Given the description of an element on the screen output the (x, y) to click on. 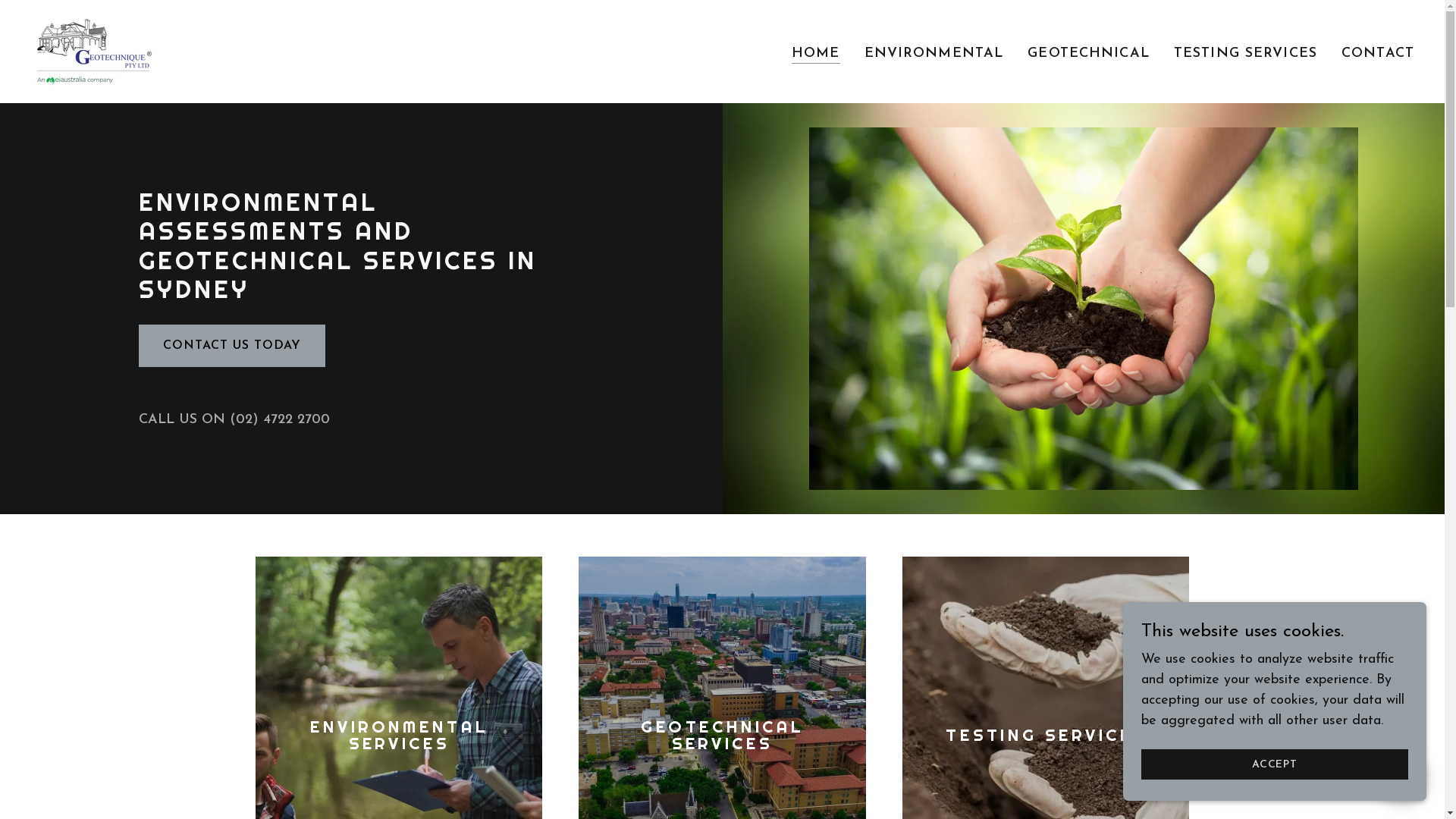
HOME Element type: text (815, 52)
GEOTECHNICAL Element type: text (1088, 52)
CONTACT US TODAY Element type: text (231, 345)
TESTING SERVICES Element type: text (1245, 52)
ACCEPT Element type: text (1274, 764)
ENVIRONMENTAL Element type: text (933, 52)
CONTACT Element type: text (1377, 52)
(02) 4722 2700 Element type: text (279, 419)
Geotechnique Pty Ltd Element type: hover (94, 50)
